Given the description of an element on the screen output the (x, y) to click on. 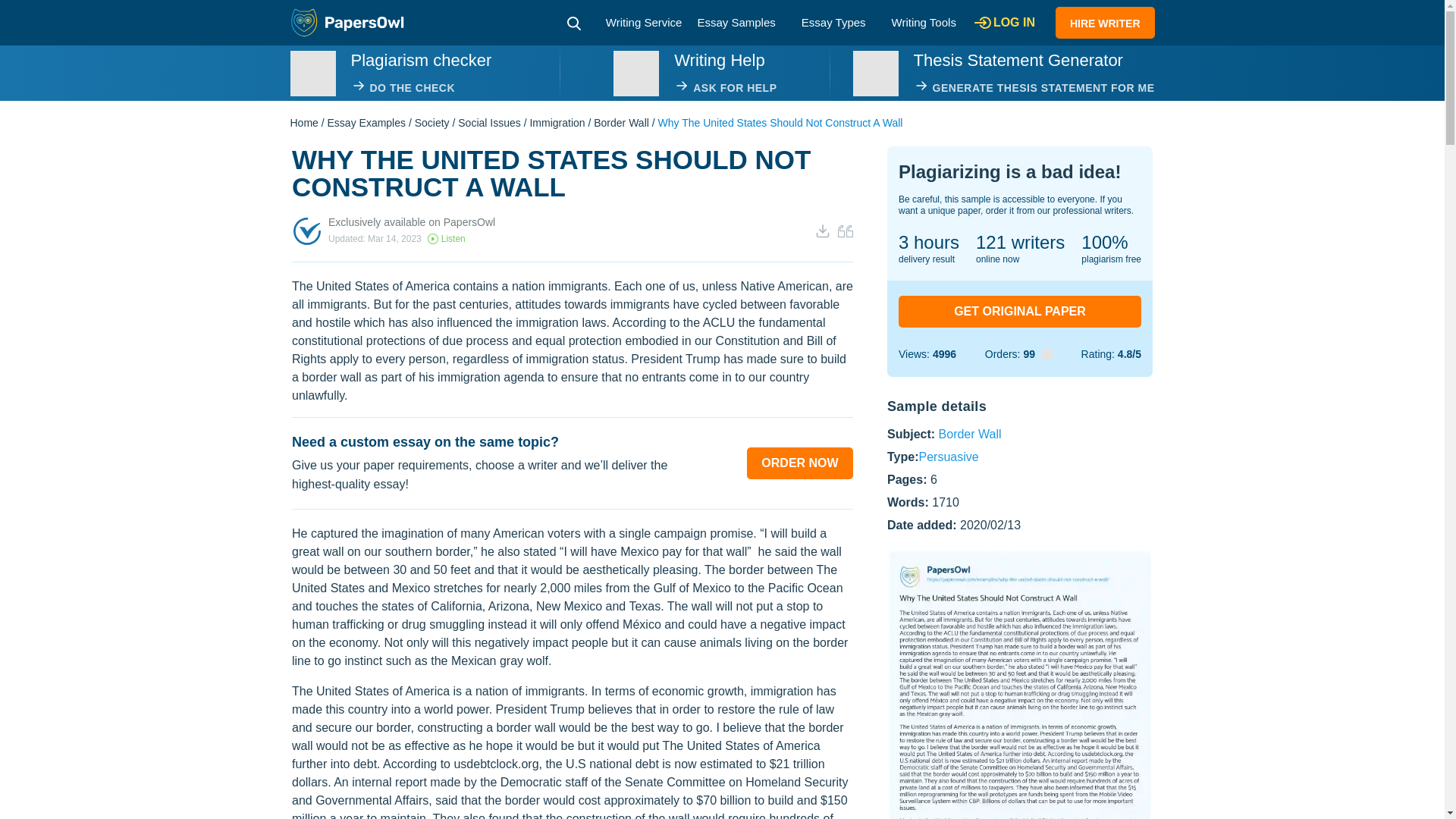
image (311, 72)
image (875, 72)
Why the United States should not Construct a Wall (1019, 683)
Writing Service (643, 21)
image (635, 72)
